Given the description of an element on the screen output the (x, y) to click on. 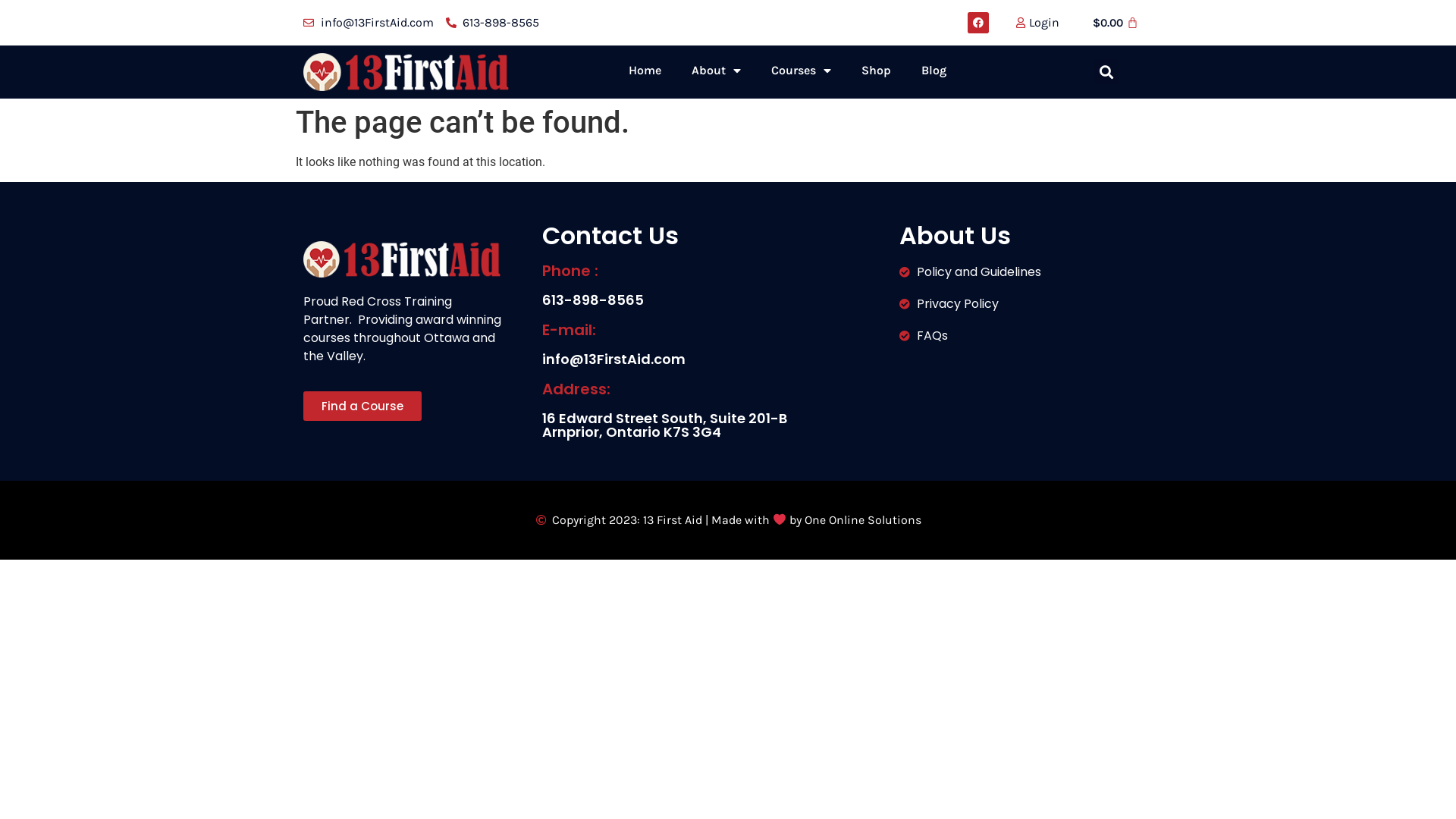
Home Element type: text (644, 70)
About Element type: text (716, 70)
Shop Element type: text (876, 70)
Login Element type: text (1031, 22)
Courses Element type: text (801, 70)
$0.00 Element type: text (1115, 22)
Privacy Policy Element type: text (1012, 303)
613-898-8565 Element type: text (492, 22)
Blog Element type: text (933, 70)
Policy and Guidelines Element type: text (1012, 272)
info@13FirstAid.com Element type: text (368, 22)
Find a Course Element type: text (362, 405)
